Given the description of an element on the screen output the (x, y) to click on. 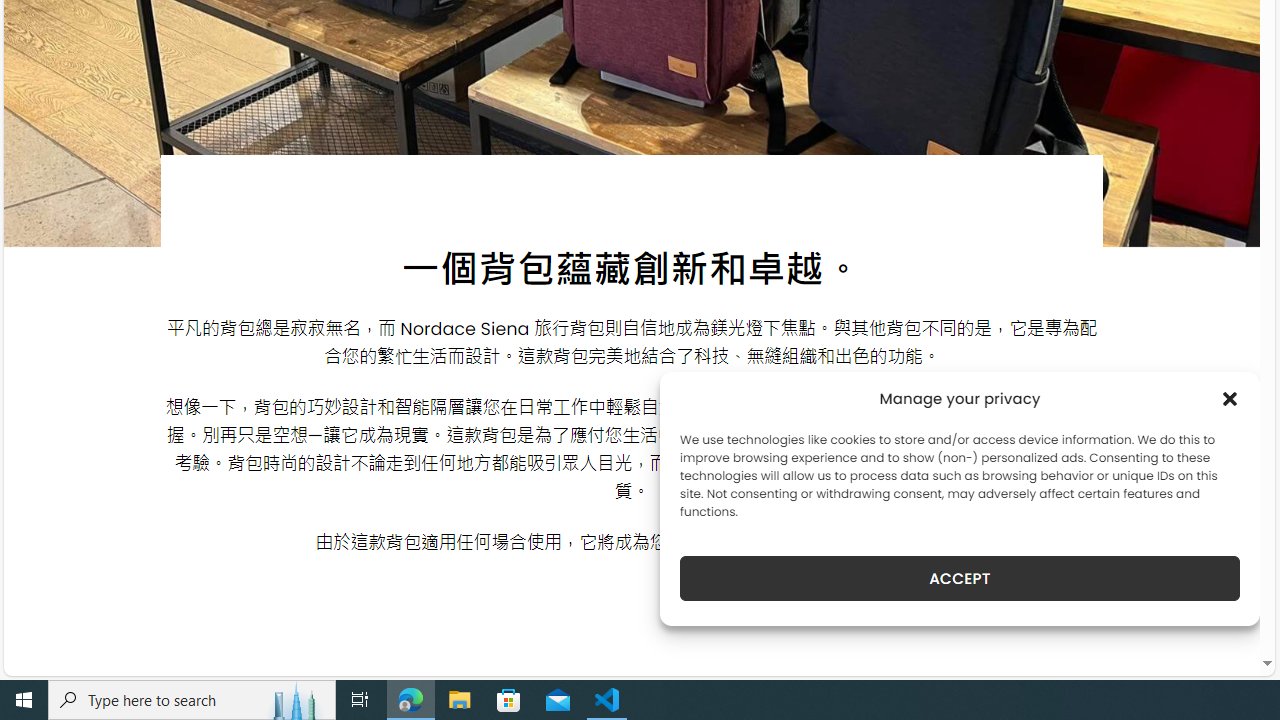
ACCEPT (959, 578)
Class: cmplz-close (1229, 398)
